Given the description of an element on the screen output the (x, y) to click on. 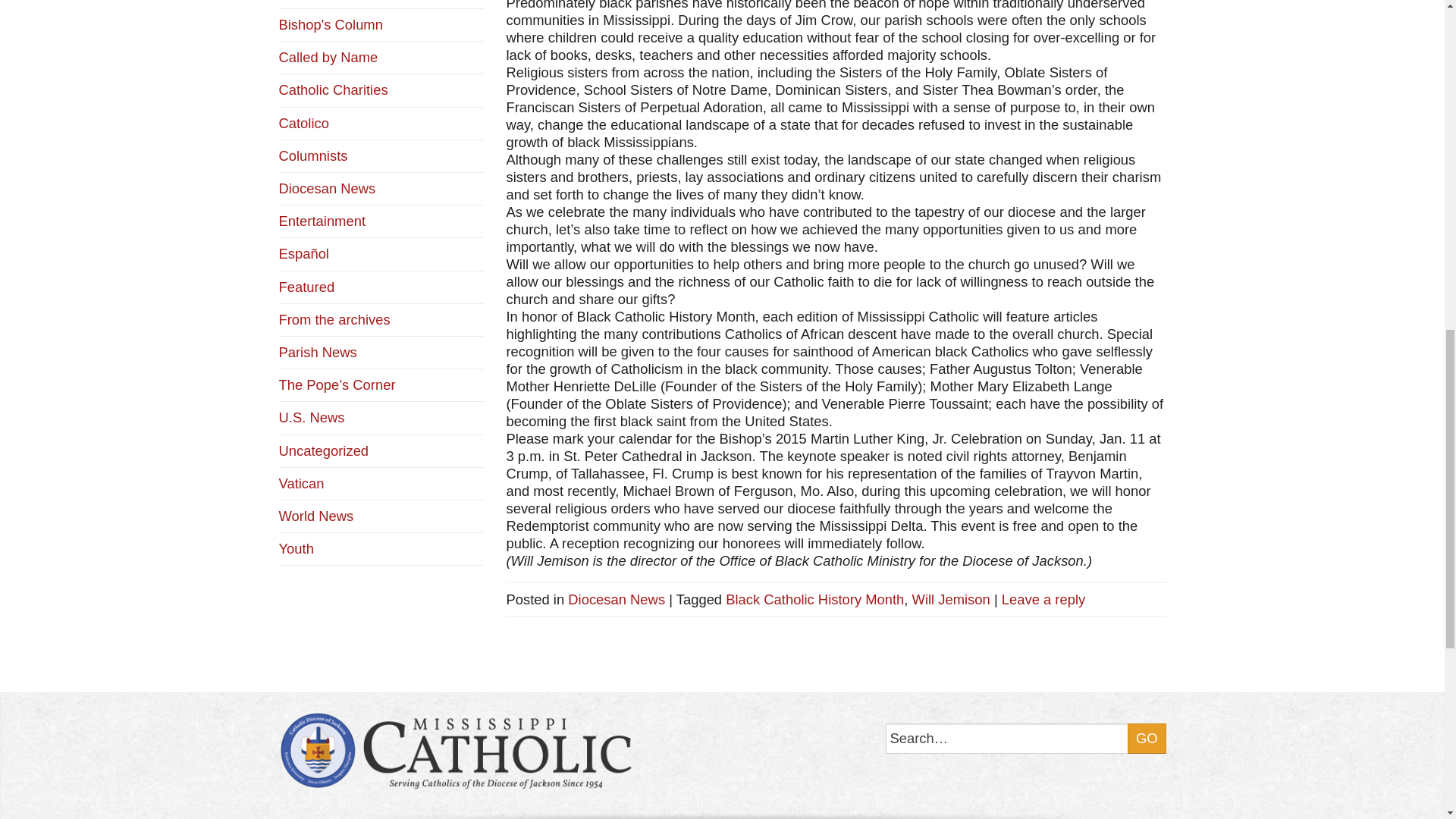
Leave a reply (1042, 599)
Called by Name (328, 57)
Catholic Charities (333, 89)
Black Catholic History Month (814, 599)
Search (1025, 738)
Columnists (313, 155)
Catolico (304, 123)
GO (1146, 738)
Will Jemison (951, 599)
Diocesan News (616, 599)
Bishop's Column (330, 24)
